Given the description of an element on the screen output the (x, y) to click on. 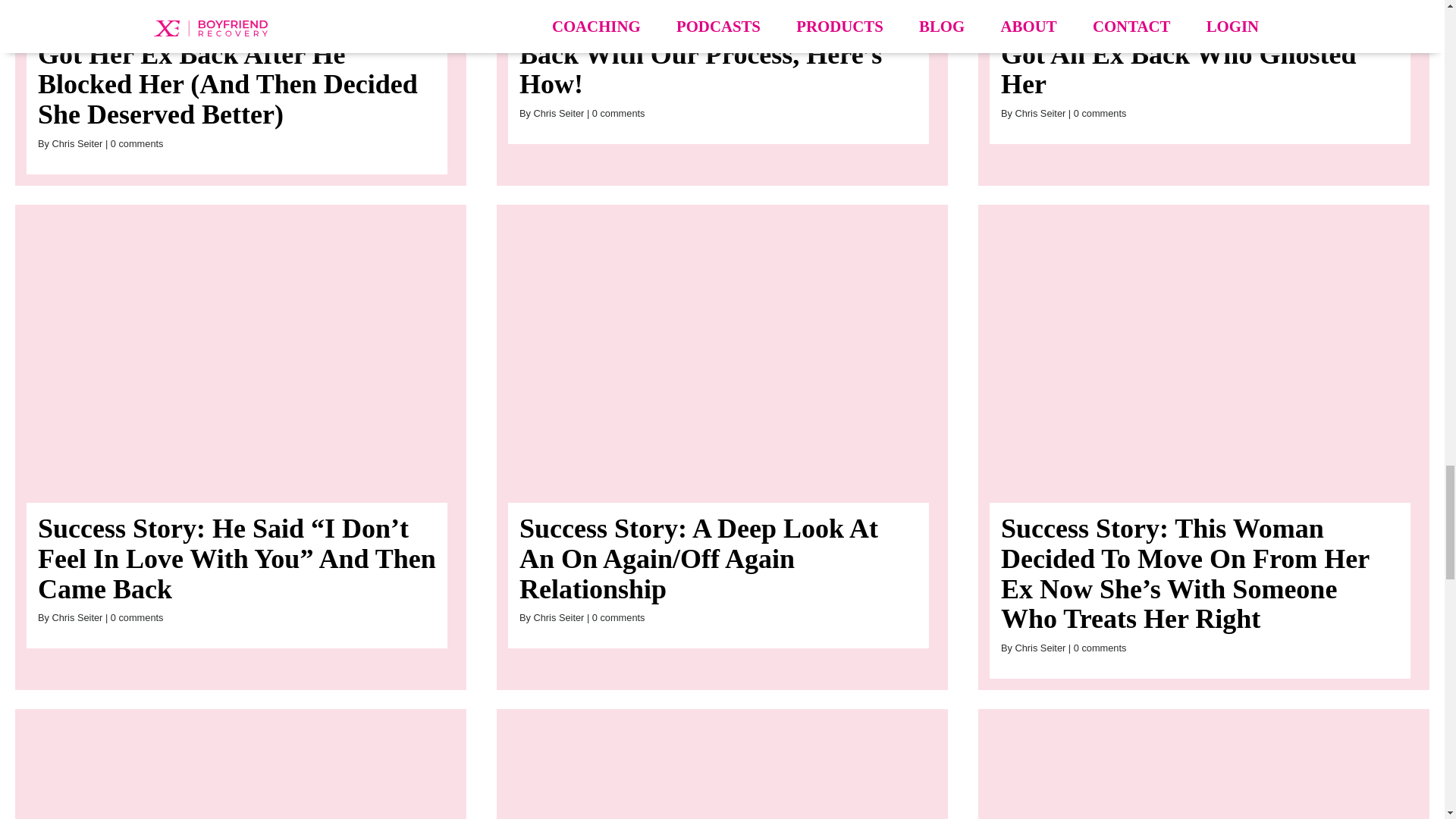
Success Story: How One Woman Got An Ex Back Who Ghosted Her (1191, 54)
